Given the description of an element on the screen output the (x, y) to click on. 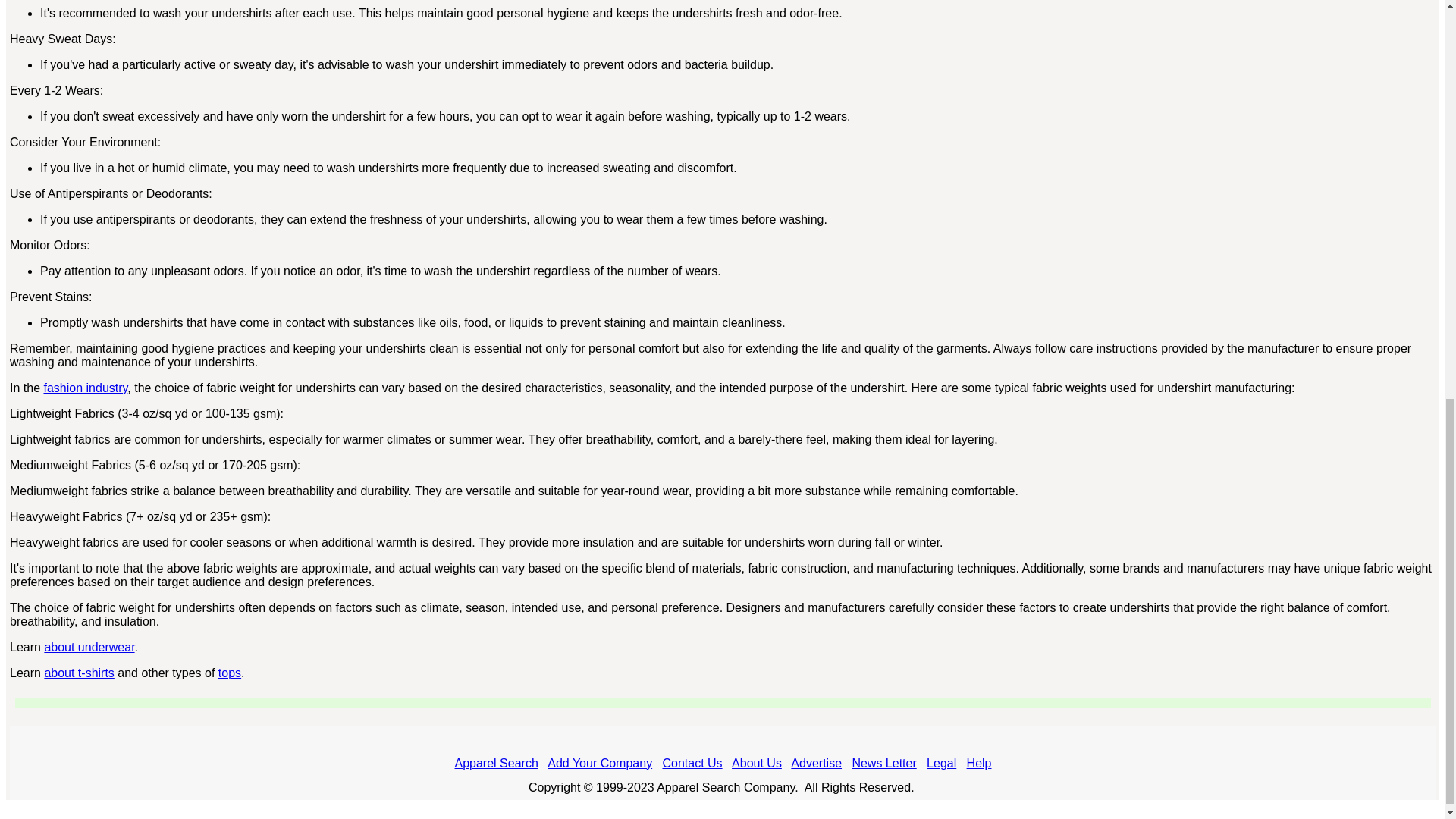
about t-shirts (78, 672)
News Letter (883, 762)
Apparel Search (496, 762)
Advertise (815, 762)
tops (229, 672)
Add Your Company (599, 762)
about underwear (88, 646)
fashion industry (85, 387)
Help (978, 762)
About Us (756, 762)
Contact Us (692, 762)
Legal (941, 762)
